Given the description of an element on the screen output the (x, y) to click on. 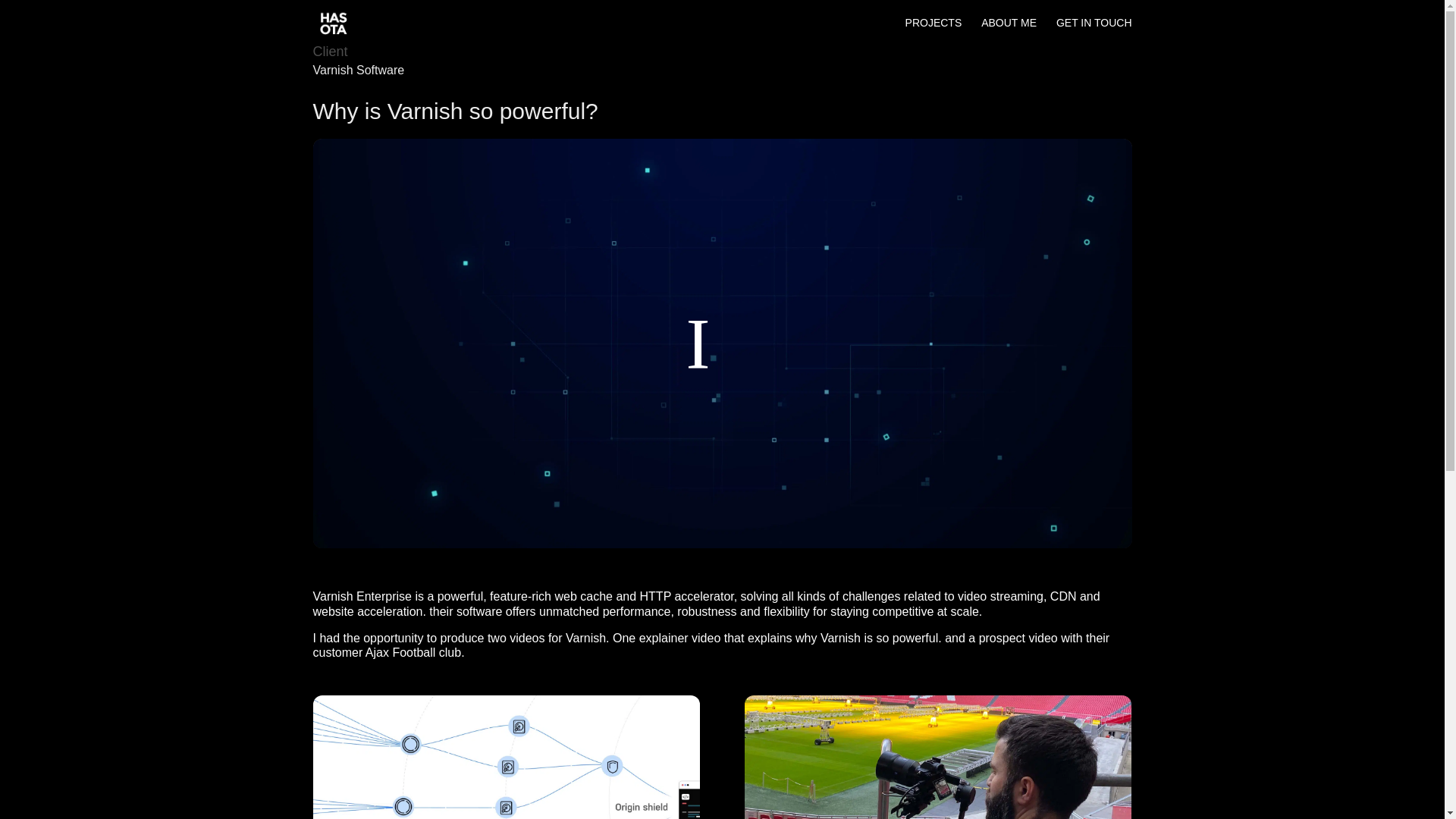
PROJECTS (933, 31)
Varnishwhite (505, 757)
GET IN TOUCH (1094, 31)
ABOUT ME (1008, 31)
